Given the description of an element on the screen output the (x, y) to click on. 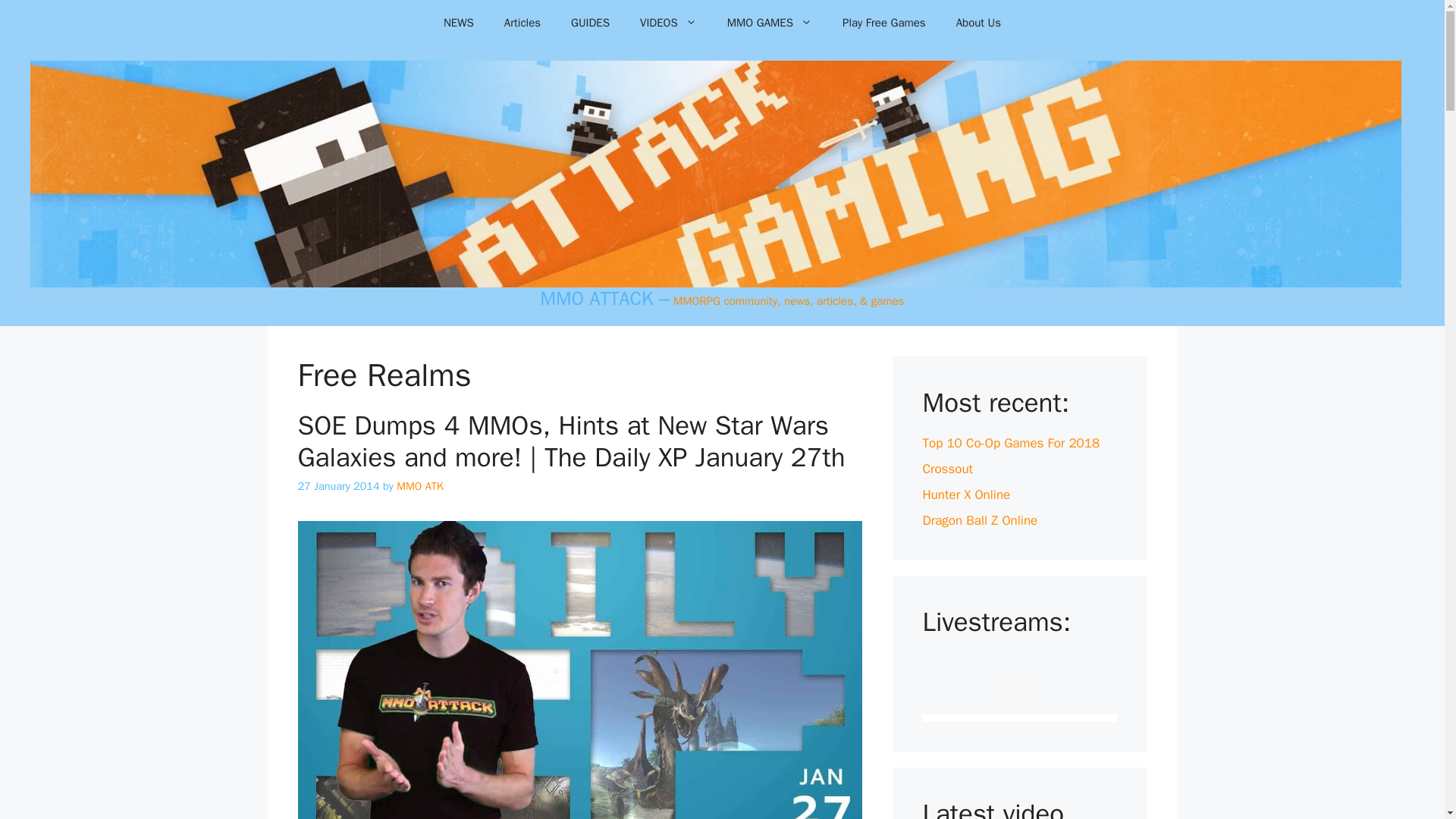
MMO ATK (420, 486)
NEWS (458, 22)
MMO ATTACK (596, 298)
VIDEOS (667, 22)
View all posts by MMO ATK (420, 486)
Play Free Games (883, 22)
Articles (522, 22)
About Us (978, 22)
GUIDES (590, 22)
MMO GAMES (769, 22)
